Given the description of an element on the screen output the (x, y) to click on. 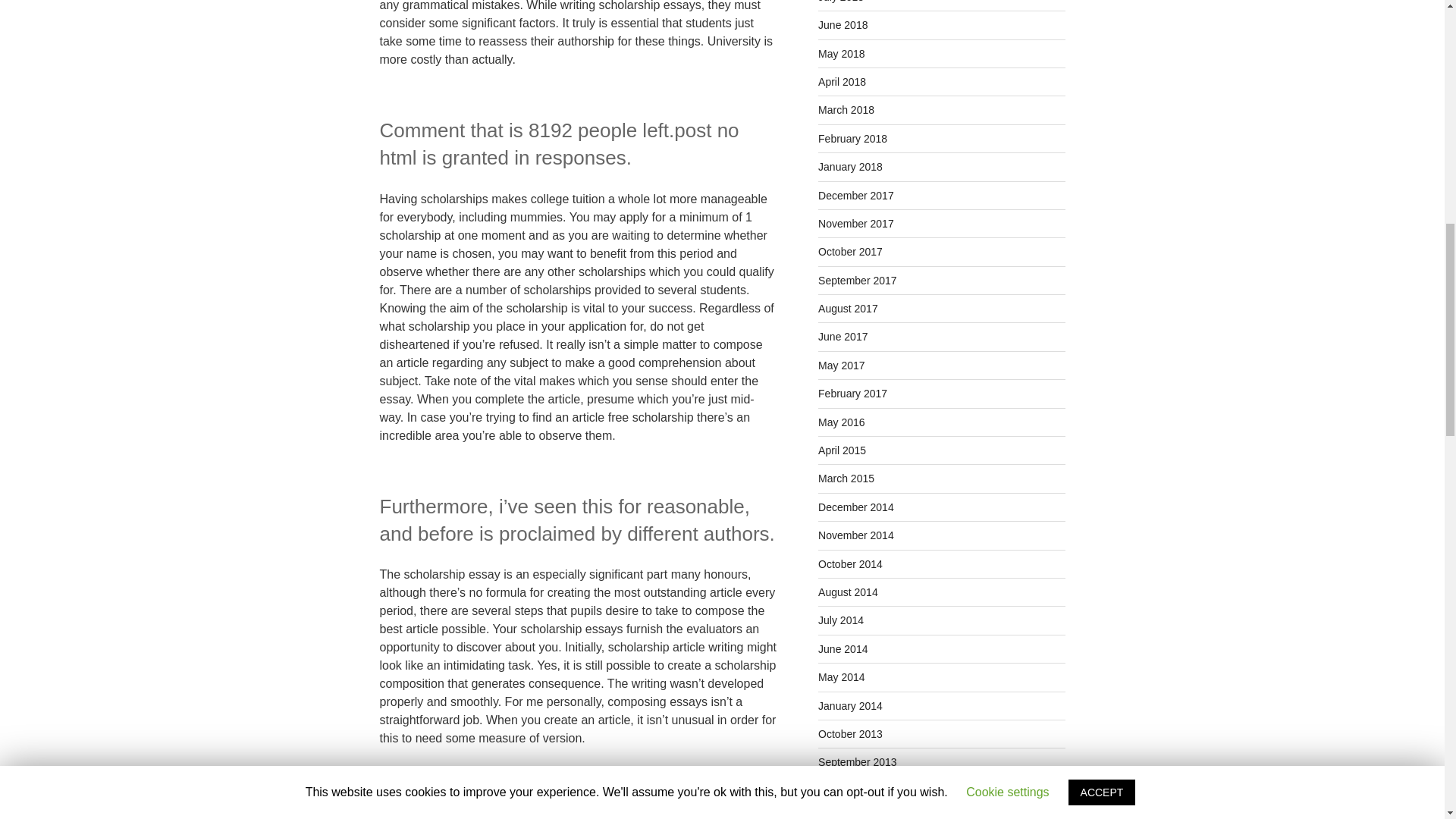
June 2018 (842, 24)
July 2018 (840, 1)
December 2017 (855, 195)
May 2018 (841, 53)
March 2018 (846, 110)
November 2017 (855, 223)
January 2018 (850, 166)
April 2018 (842, 81)
October 2017 (850, 251)
February 2018 (852, 138)
